Given the description of an element on the screen output the (x, y) to click on. 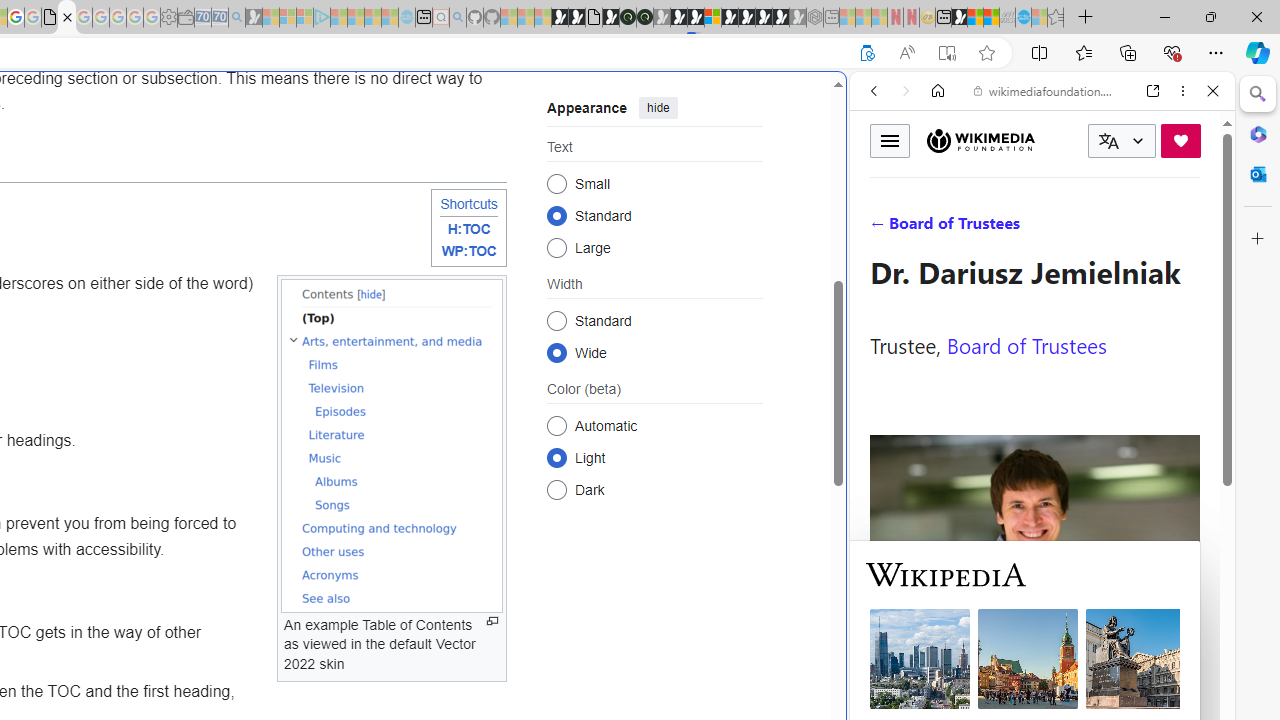
Wiktionary (1034, 669)
Help:Section - Wikipedia (66, 17)
google_privacy_policy_zh-CN.pdf (49, 17)
Board of Trustees (1026, 344)
Play Zoo Boom in your browser | Games from Microsoft Start (576, 17)
